Given the description of an element on the screen output the (x, y) to click on. 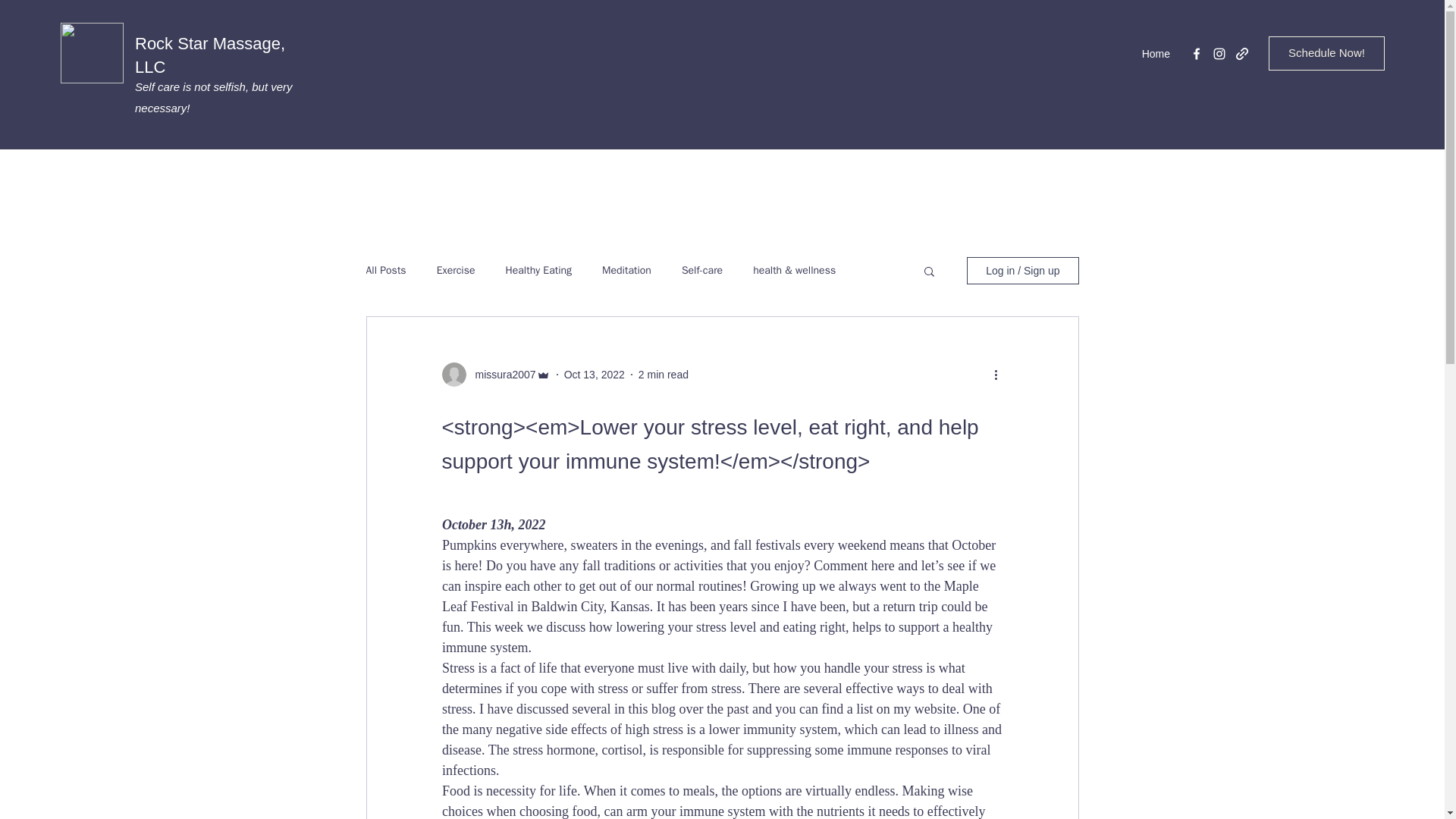
Home (1155, 53)
Exercise (456, 270)
missura2007 (500, 374)
Oct 13, 2022 (594, 374)
Self-care (701, 270)
Healthy Eating (538, 270)
Meditation (626, 270)
All Posts (385, 270)
Rock Star Massage, LLC (210, 55)
Schedule Now! (1326, 53)
